Given the description of an element on the screen output the (x, y) to click on. 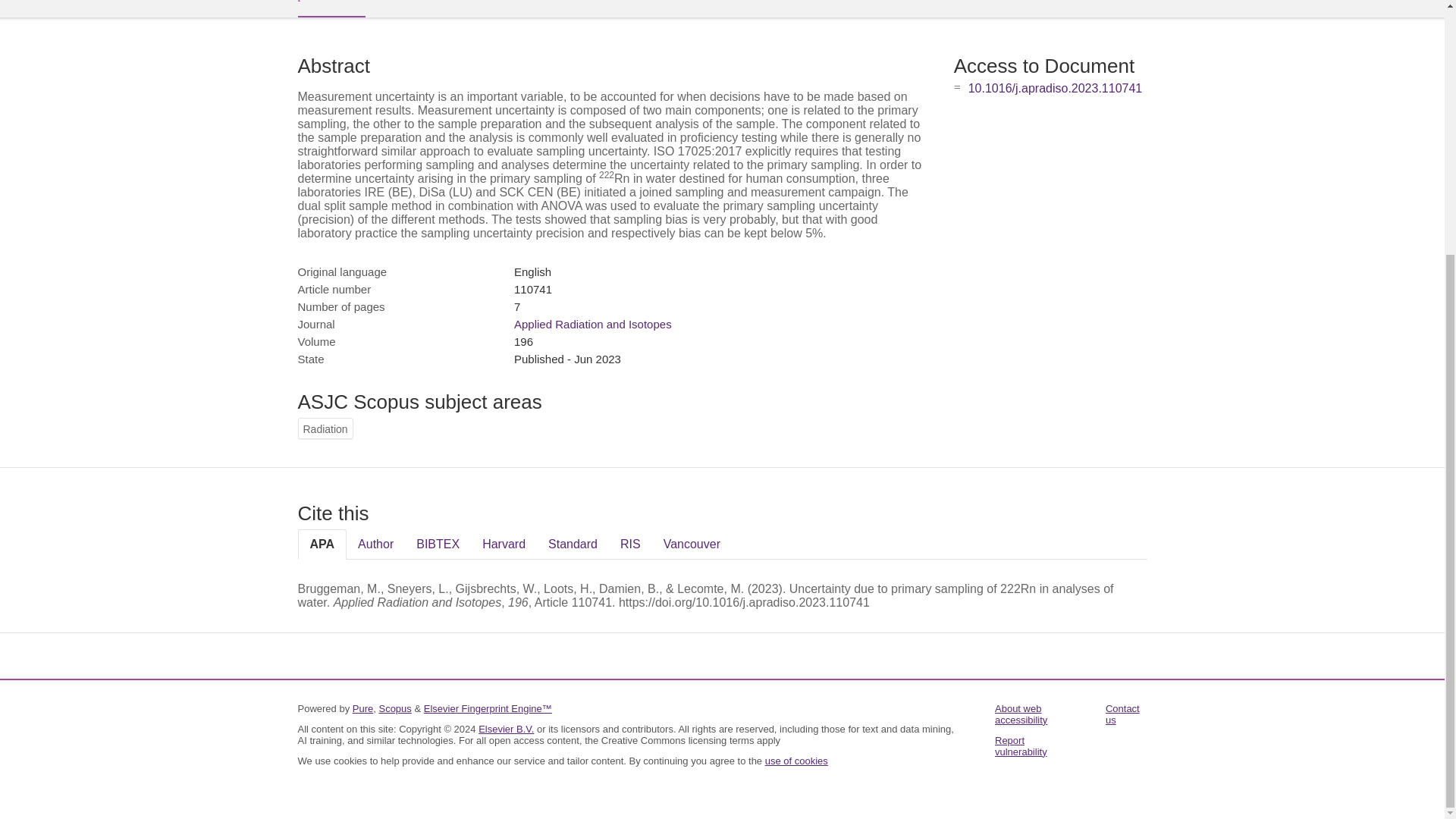
Contact us (1122, 713)
About web accessibility (1020, 713)
Pure (362, 708)
Scopus (394, 708)
Report vulnerability (1020, 745)
use of cookies (796, 760)
Applied Radiation and Isotopes (592, 323)
Overview (331, 8)
Elsevier B.V. (506, 728)
